Given the description of an element on the screen output the (x, y) to click on. 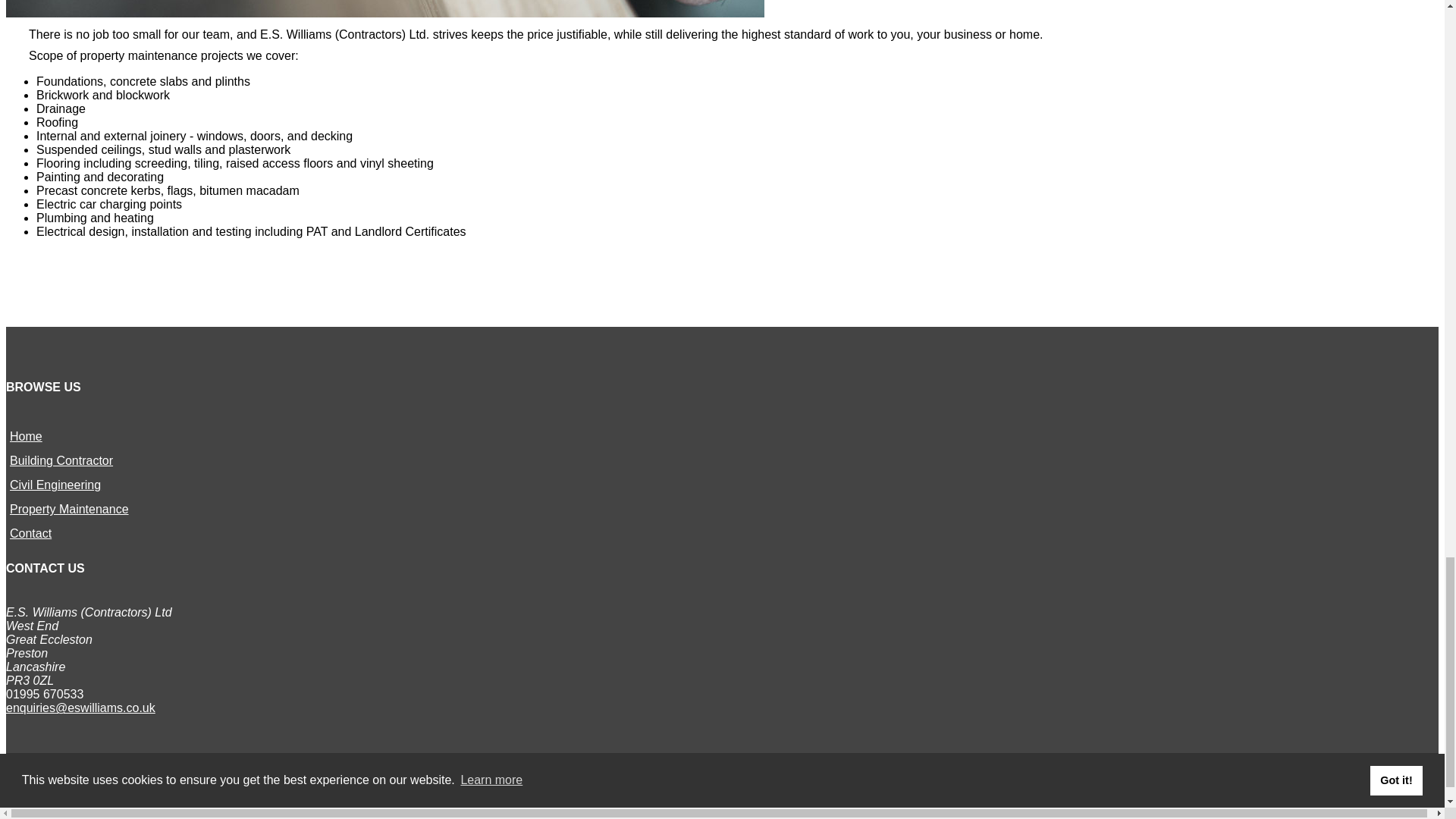
Civil Engineering (55, 484)
Valid HTML5 (133, 808)
Home (26, 436)
Property Maintenance (69, 508)
Web Design Preston (46, 808)
Contact (30, 533)
HTML5 (133, 808)
Easy Web Sites Ltd. (46, 808)
Building Contractor (61, 460)
